Given the description of an element on the screen output the (x, y) to click on. 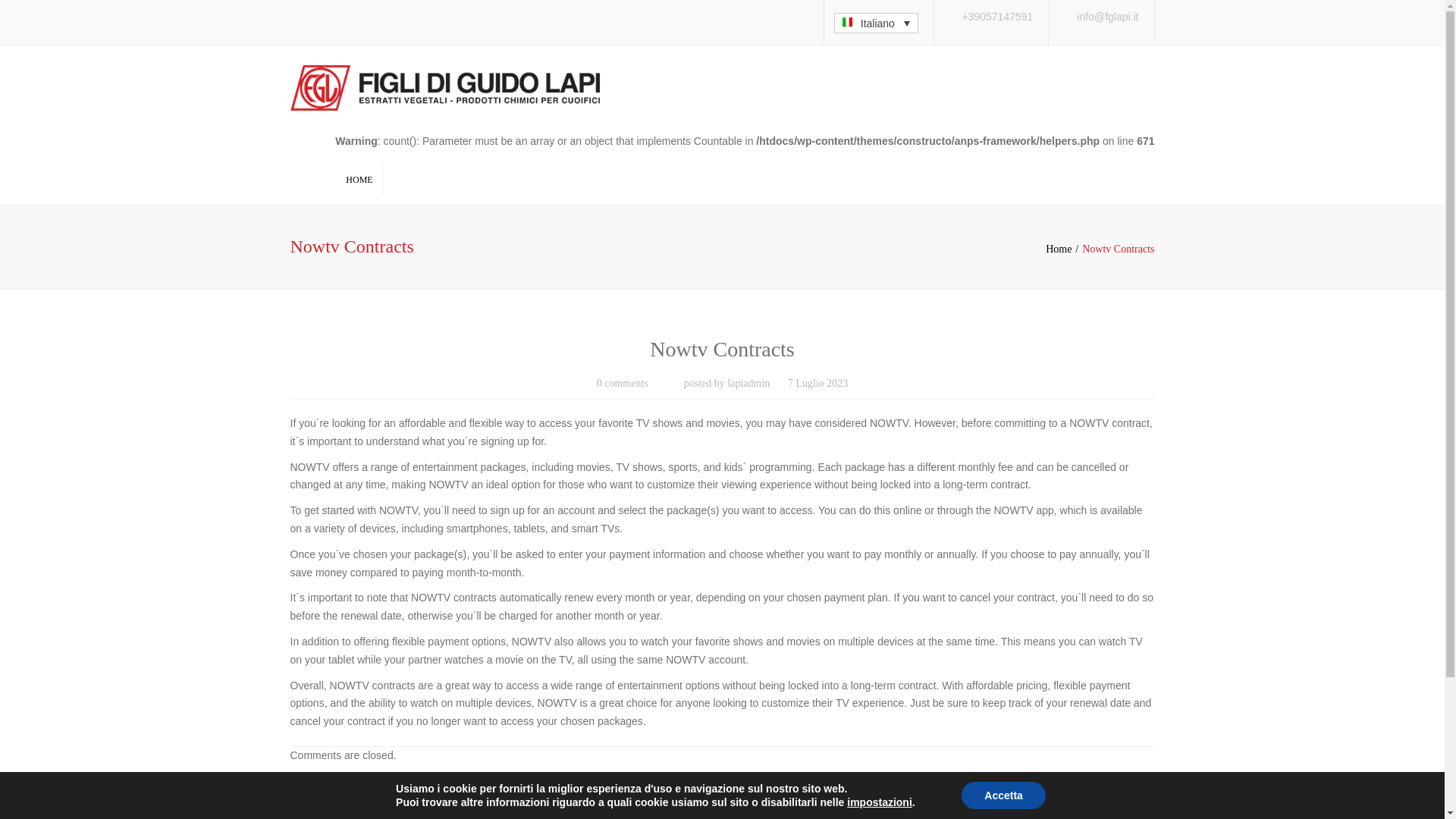
Italiano (875, 23)
Home (1063, 248)
0 comments (621, 384)
lapiadmin (748, 384)
Accetta (1002, 795)
